Given the description of an element on the screen output the (x, y) to click on. 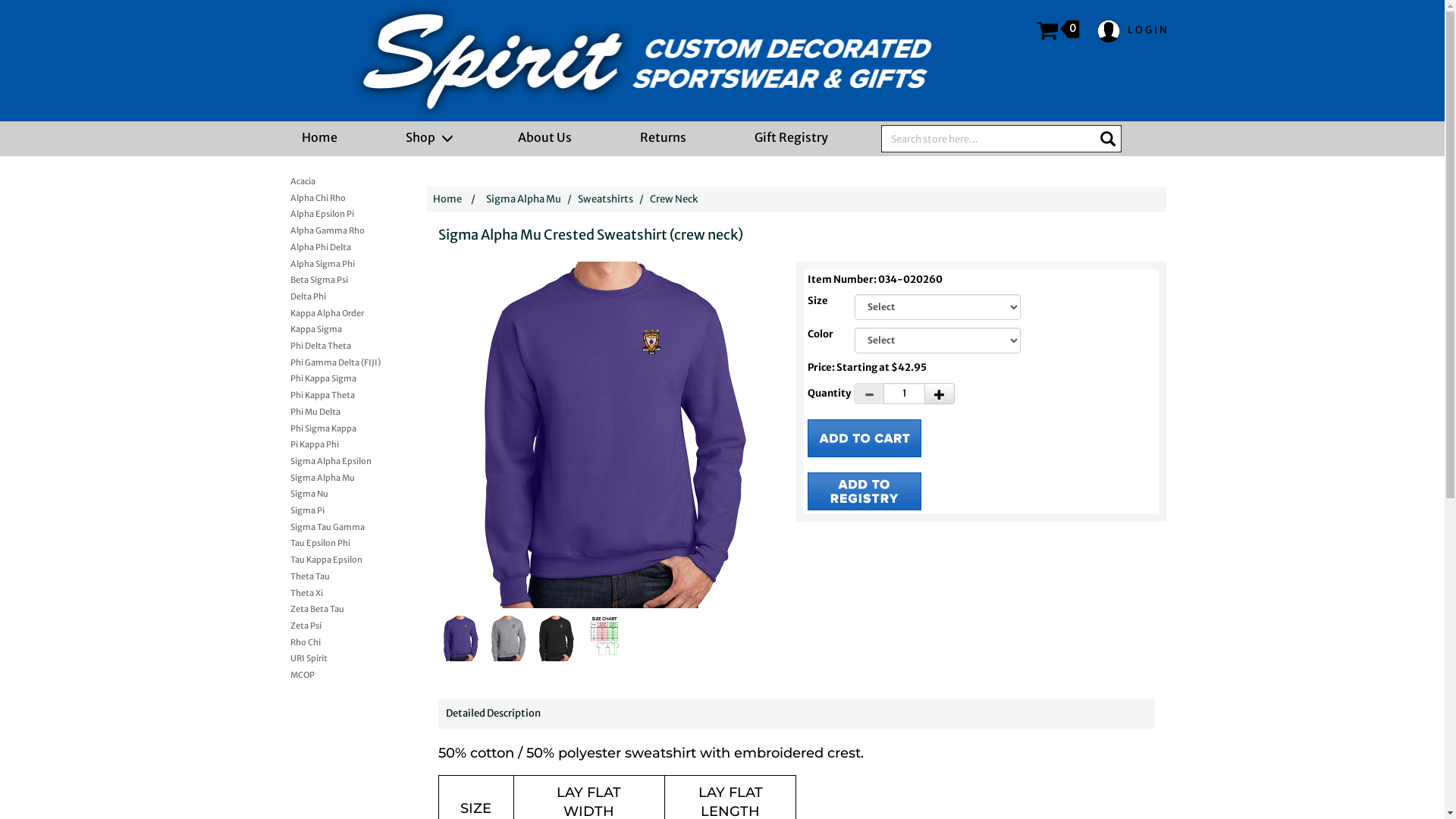
Phi Kappa Theta Element type: text (337, 393)
Sigma Alpha Mu Element type: text (337, 475)
Theta Tau Element type: text (337, 574)
Pi Kappa Phi Element type: text (337, 442)
Returns Element type: text (663, 136)
Sweatshirts Element type: text (605, 198)
Kappa Sigma Element type: text (337, 327)
Gift Registry Element type: text (790, 136)
Home Element type: text (446, 198)
Alpha Sigma Phi Element type: text (337, 262)
Sigma Nu Element type: text (337, 491)
Alpha Gamma Rho Element type: text (337, 228)
Phi Gamma Delta (FIJI) Element type: text (337, 360)
Phi Kappa Sigma Element type: text (337, 376)
Alpha Phi Delta Element type: text (337, 245)
Crew Neck Element type: text (673, 198)
Home Element type: text (319, 136)
Zeta Beta Tau Element type: text (337, 607)
Alpha Epsilon Pi Element type: text (337, 211)
About Us Element type: text (544, 136)
Rho Chi Element type: text (337, 640)
Alpha Chi Rho Element type: text (337, 196)
cart Element type: text (864, 438)
Kappa Alpha Order Element type: text (337, 311)
Theta Xi Element type: text (337, 591)
Tau Epsilon Phi Element type: text (337, 541)
Beta Sigma Psi Element type: text (337, 277)
Sigma Pi Element type: text (337, 508)
Sigma Tau Gamma Element type: text (337, 525)
Shop Element type: text (426, 136)
Sigma Alpha Mu Crested Sweatshirt (crew neck) Element type: hover (614, 434)
Zeta Psi Element type: text (337, 623)
Acacia Element type: text (337, 179)
Phi Delta Theta Element type: text (337, 343)
Tau Kappa Epsilon Element type: text (337, 557)
giftlist Element type: text (864, 491)
Phi Mu Delta Element type: text (337, 409)
Spirit Recognition Element type: hover (647, 60)
URI Spirit Element type: text (337, 656)
Delta Phi Element type: text (337, 294)
  LOGIN Element type: text (1133, 30)
MCOP Element type: text (337, 673)
Phi Sigma Kappa Element type: text (337, 426)
Sigma Alpha Epsilon Element type: text (337, 459)
Sigma Alpha Mu Element type: text (522, 198)
